Given the description of an element on the screen output the (x, y) to click on. 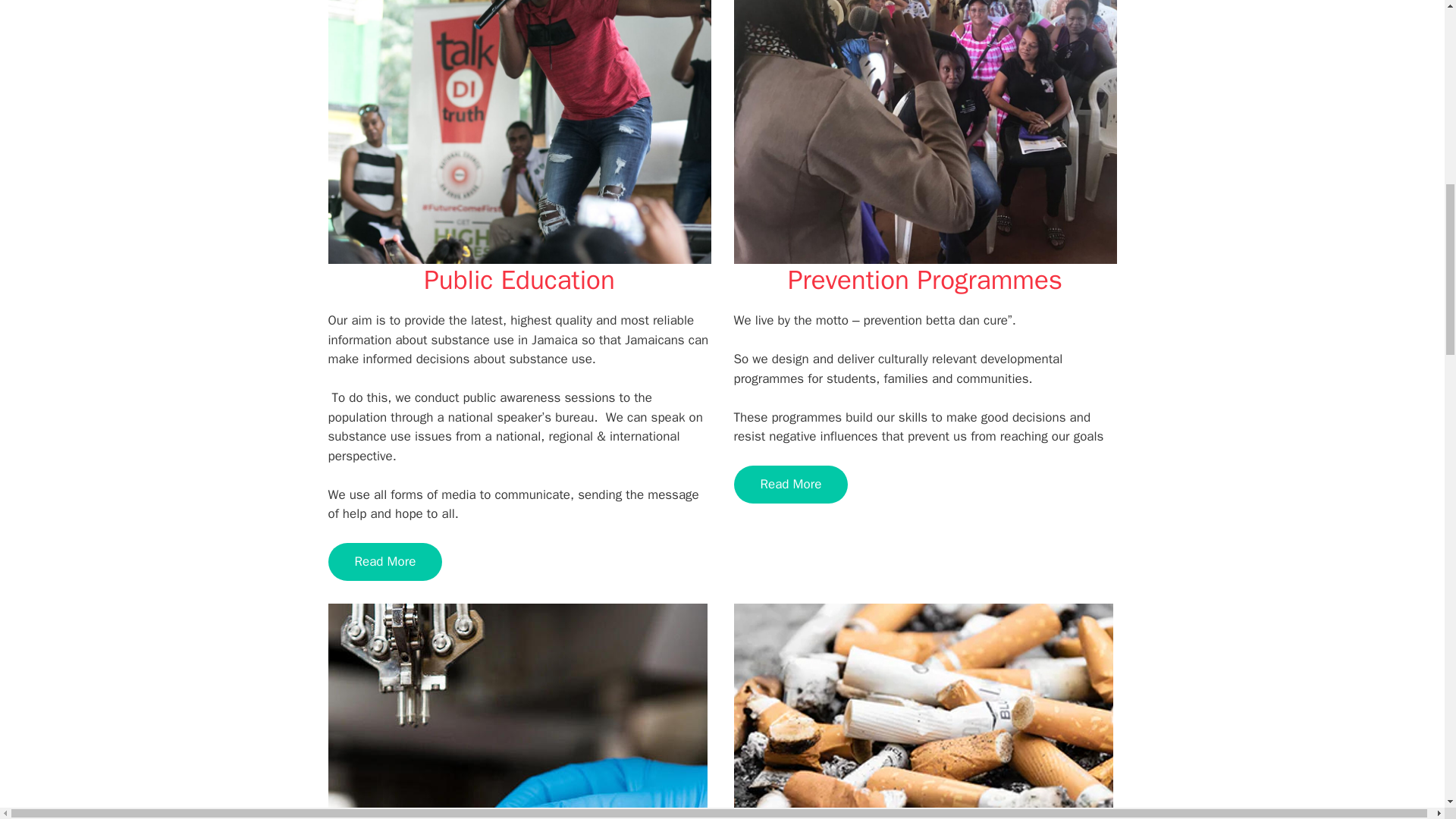
Read More (384, 561)
Prevention Programmes (924, 279)
Public Education (518, 279)
Read More (790, 484)
